Given the description of an element on the screen output the (x, y) to click on. 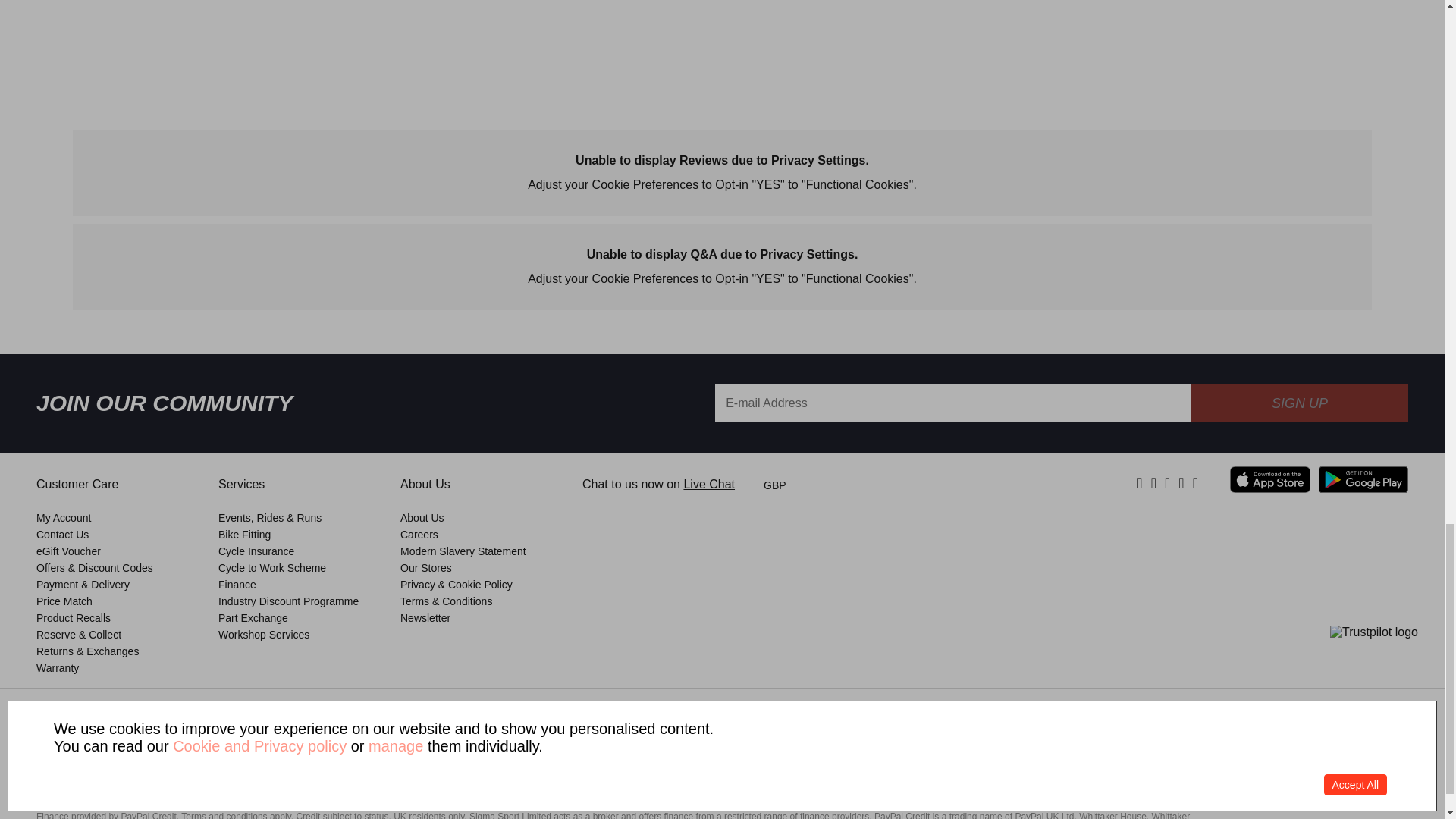
Sign Up (1299, 403)
